Given the description of an element on the screen output the (x, y) to click on. 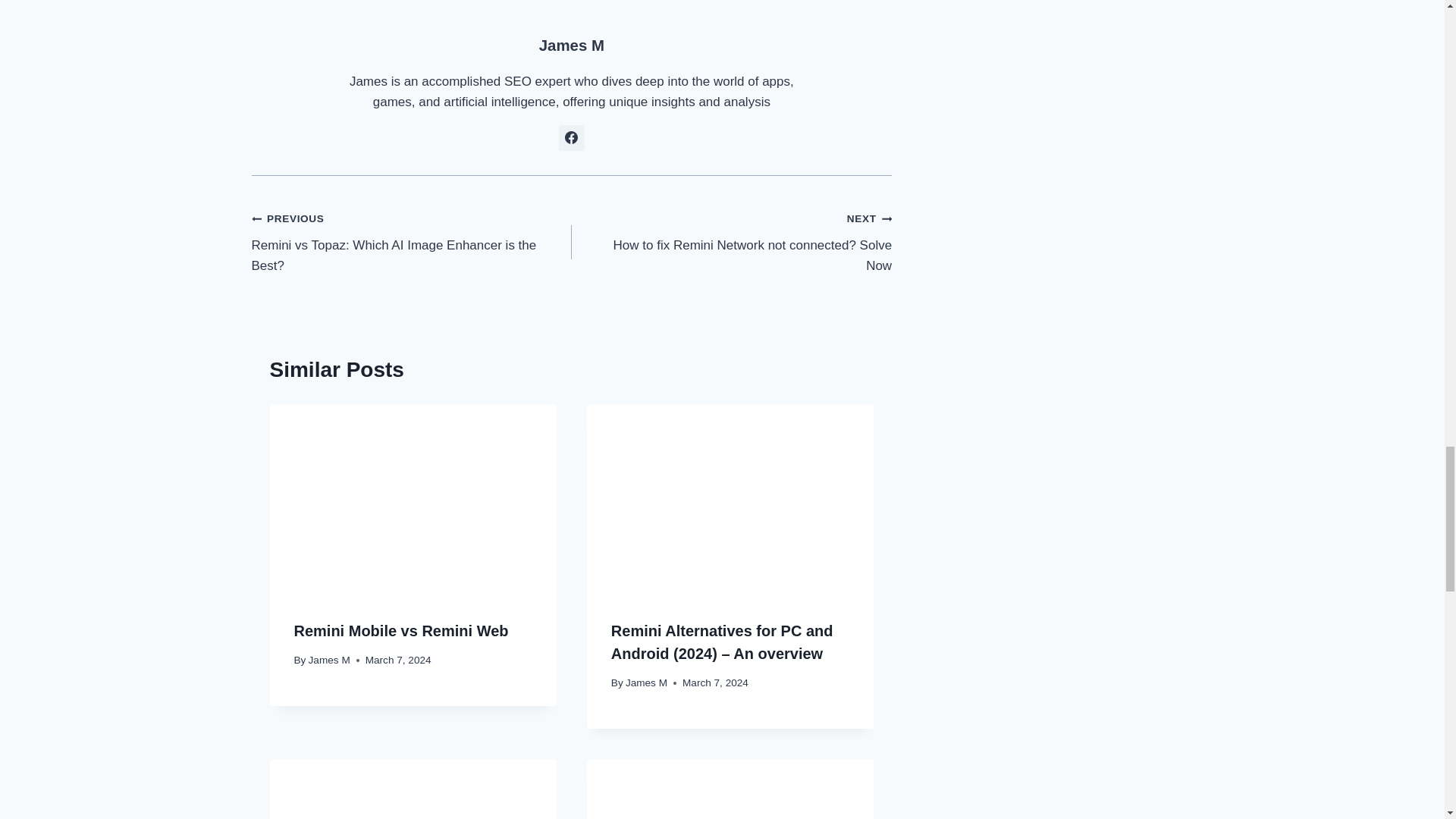
Posts by James M (571, 45)
James M (646, 682)
Remini Mobile vs Remini Web (401, 630)
Follow James M on Facebook (572, 137)
James M (329, 659)
James M (731, 242)
